Given the description of an element on the screen output the (x, y) to click on. 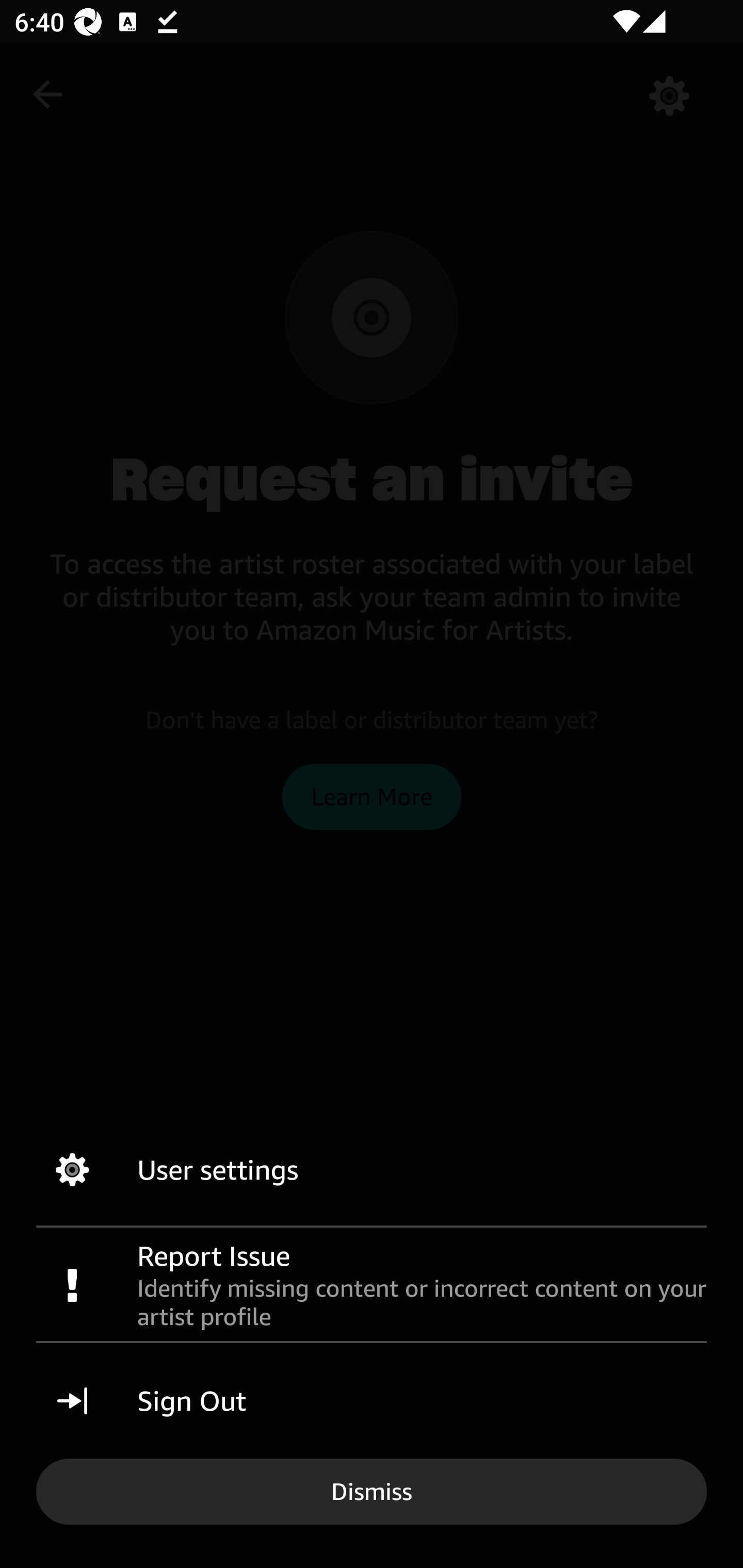
User settings  icon User settings User settings (371, 1169)
Sign Out  icon Sign Out Sign Out (371, 1400)
Dismiss button Dismiss (371, 1491)
